Given the description of an element on the screen output the (x, y) to click on. 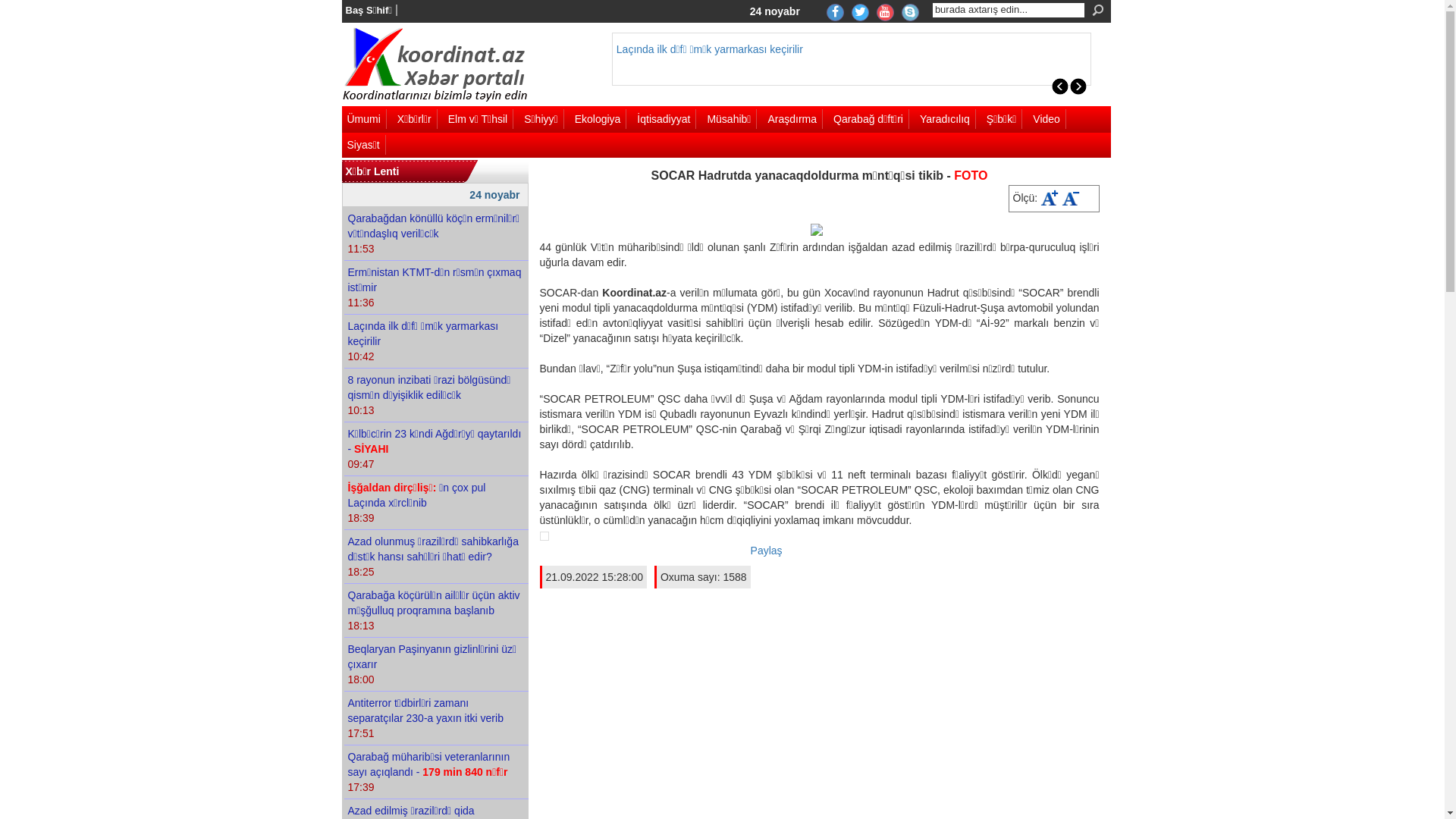
Ekologiya Element type: text (600, 118)
Koordinat.az Element type: hover (442, 65)
Video Element type: text (1049, 118)
Axtar Element type: text (1097, 10)
